Given the description of an element on the screen output the (x, y) to click on. 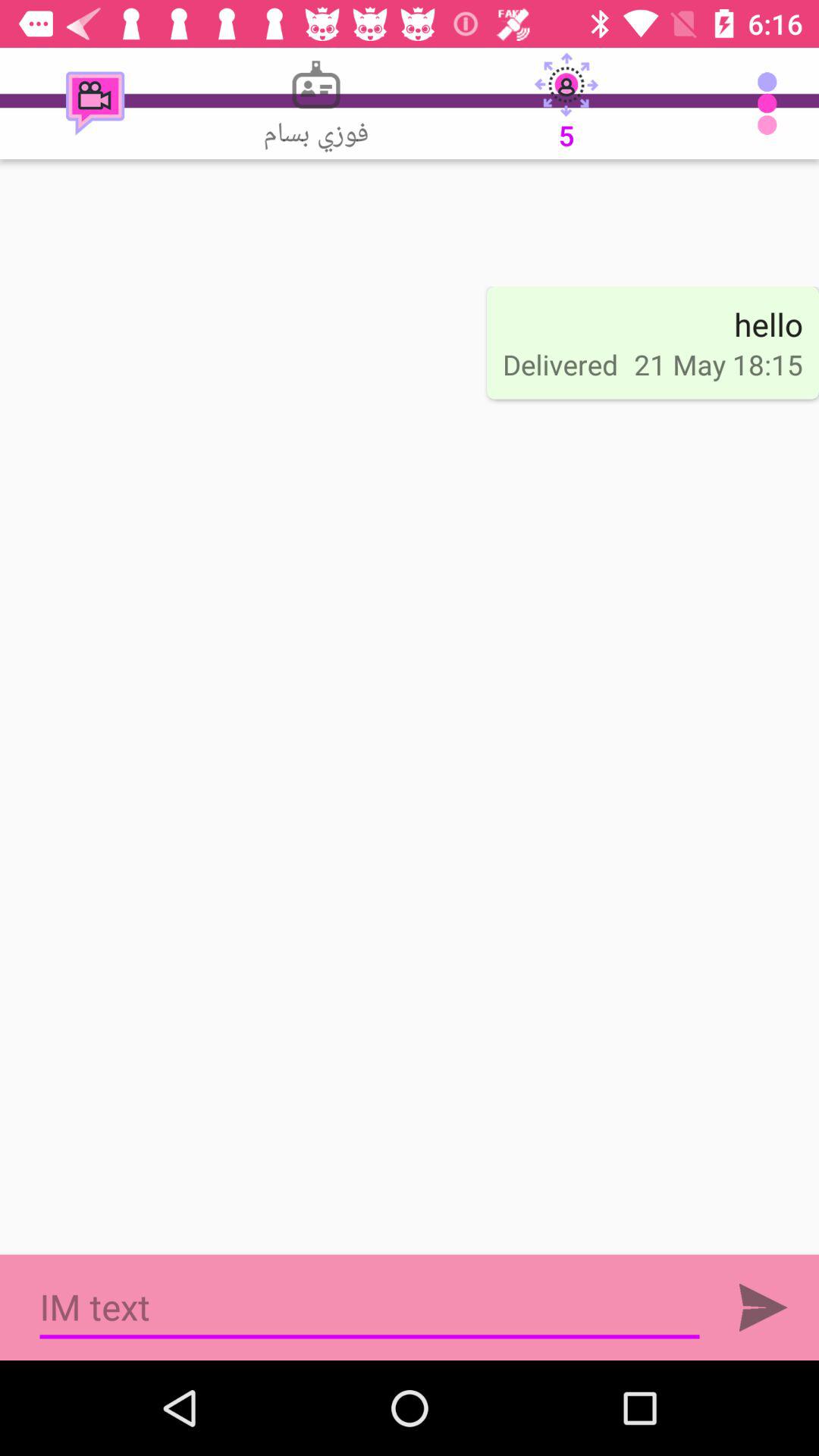
click item next to 5 item (771, 103)
